Given the description of an element on the screen output the (x, y) to click on. 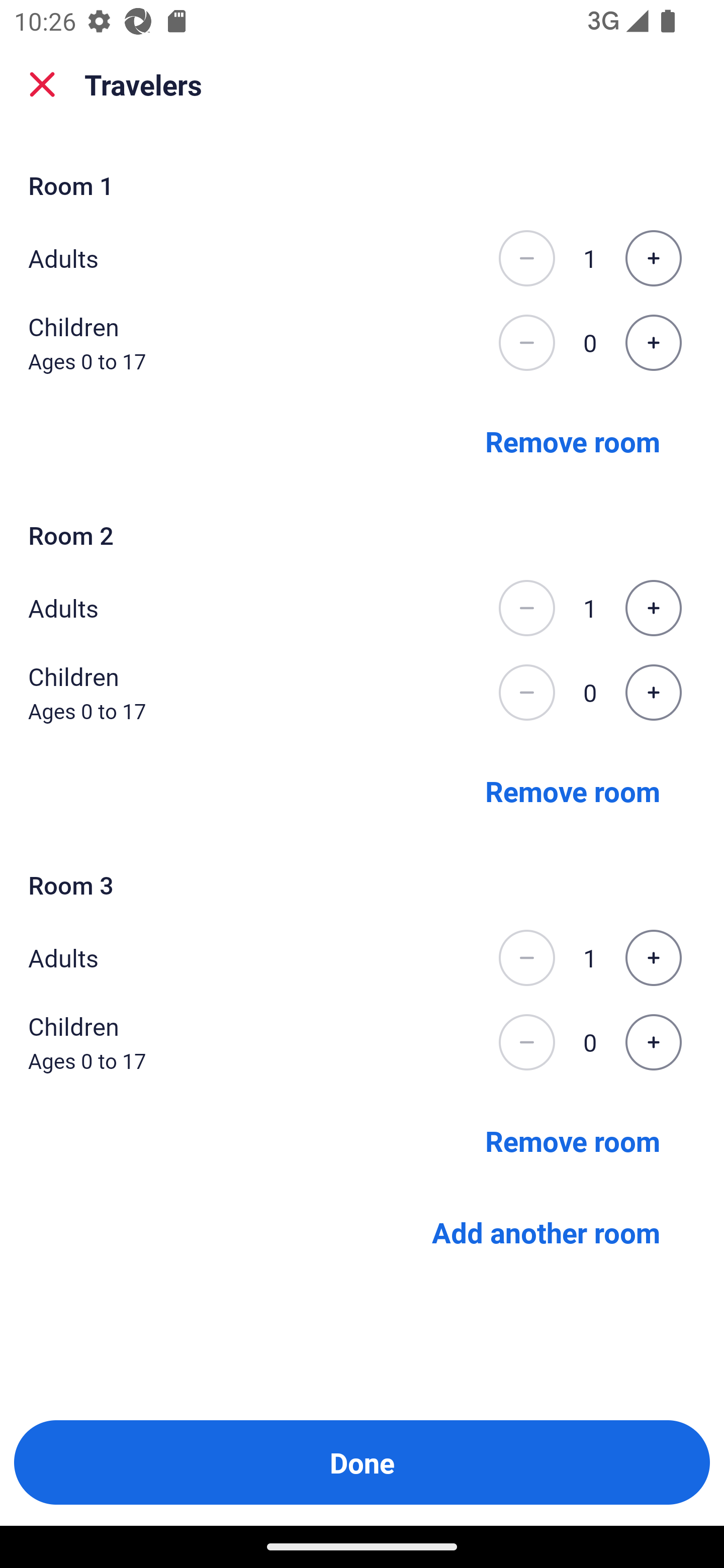
close (42, 84)
Decrease the number of adults (526, 258)
Increase the number of adults (653, 258)
Decrease the number of children (526, 343)
Increase the number of children (653, 343)
Remove room (572, 440)
Decrease the number of adults (526, 608)
Increase the number of adults (653, 608)
Decrease the number of children (526, 692)
Increase the number of children (653, 692)
Remove room (572, 790)
Decrease the number of adults (526, 957)
Increase the number of adults (653, 957)
Decrease the number of children (526, 1042)
Increase the number of children (653, 1042)
Remove room (572, 1140)
Add another room (545, 1232)
Done (361, 1462)
